Given the description of an element on the screen output the (x, y) to click on. 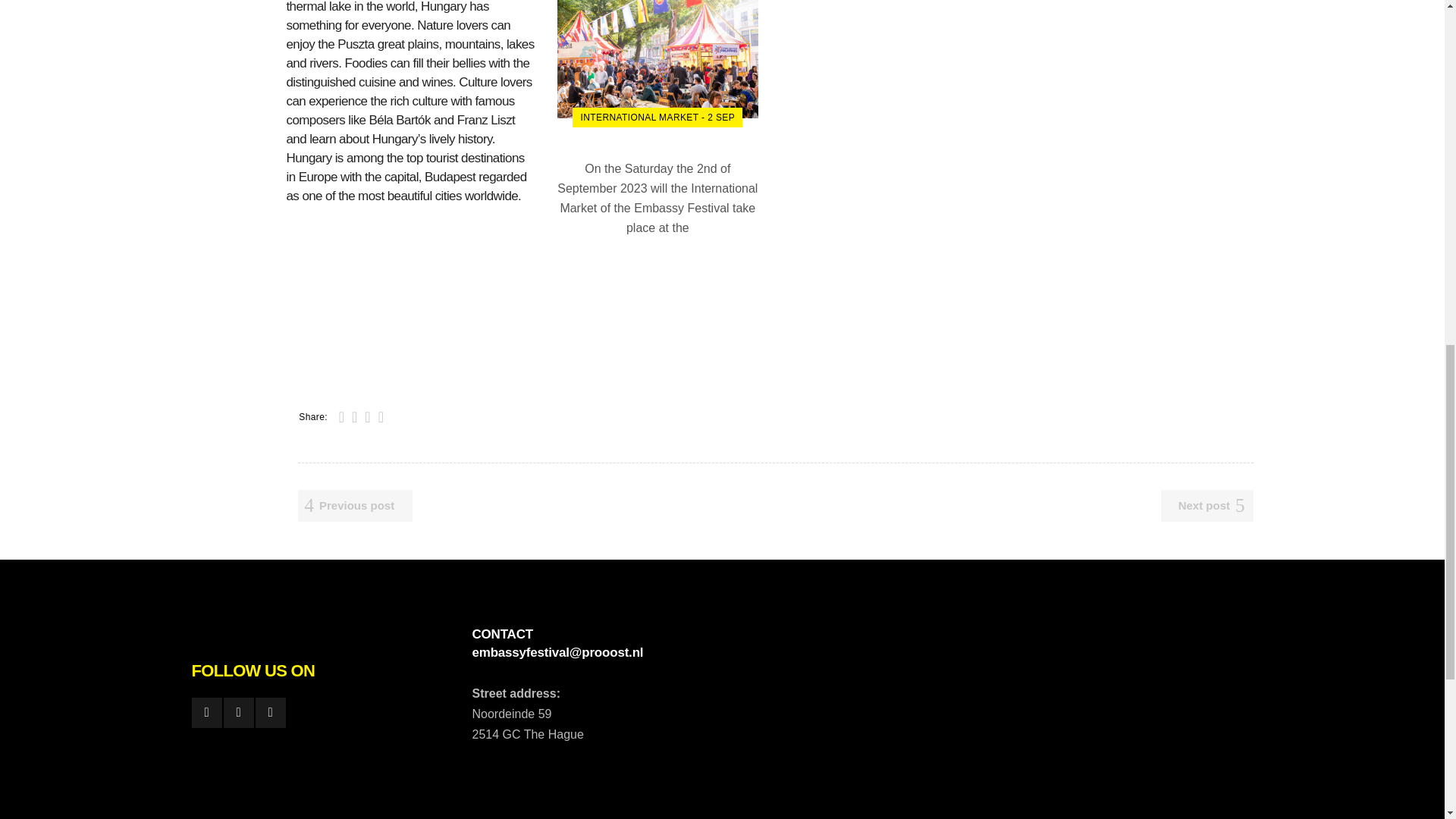
Share on LinkedIn (367, 416)
Previous post (354, 505)
INTERNATIONAL MARKET - 2 SEP (657, 117)
Share on Twitter (354, 416)
Next post (1206, 505)
Share on Pinterest (381, 416)
Share on Facebook (341, 416)
